Given the description of an element on the screen output the (x, y) to click on. 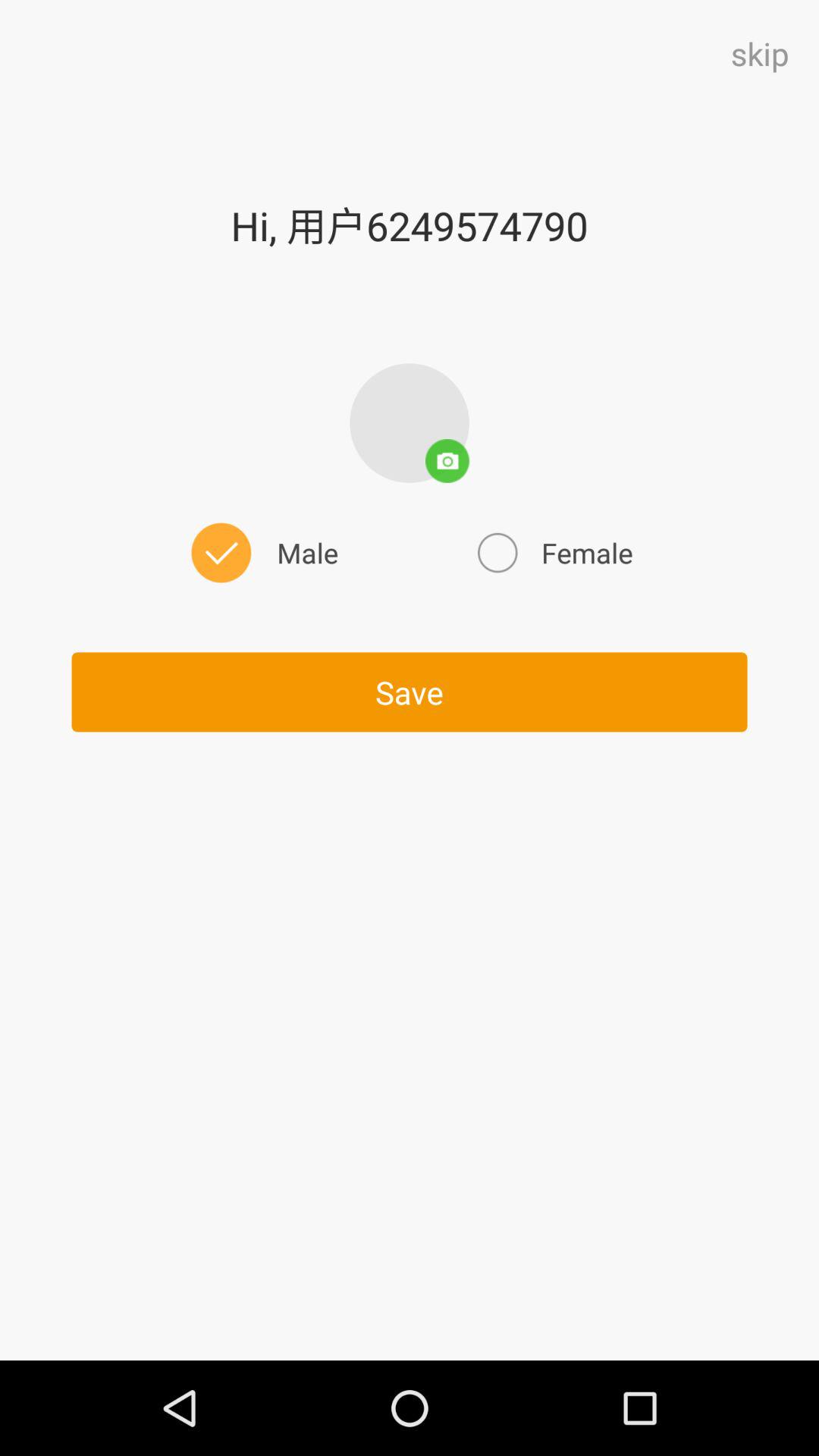
press the male on the left (261, 552)
